Given the description of an element on the screen output the (x, y) to click on. 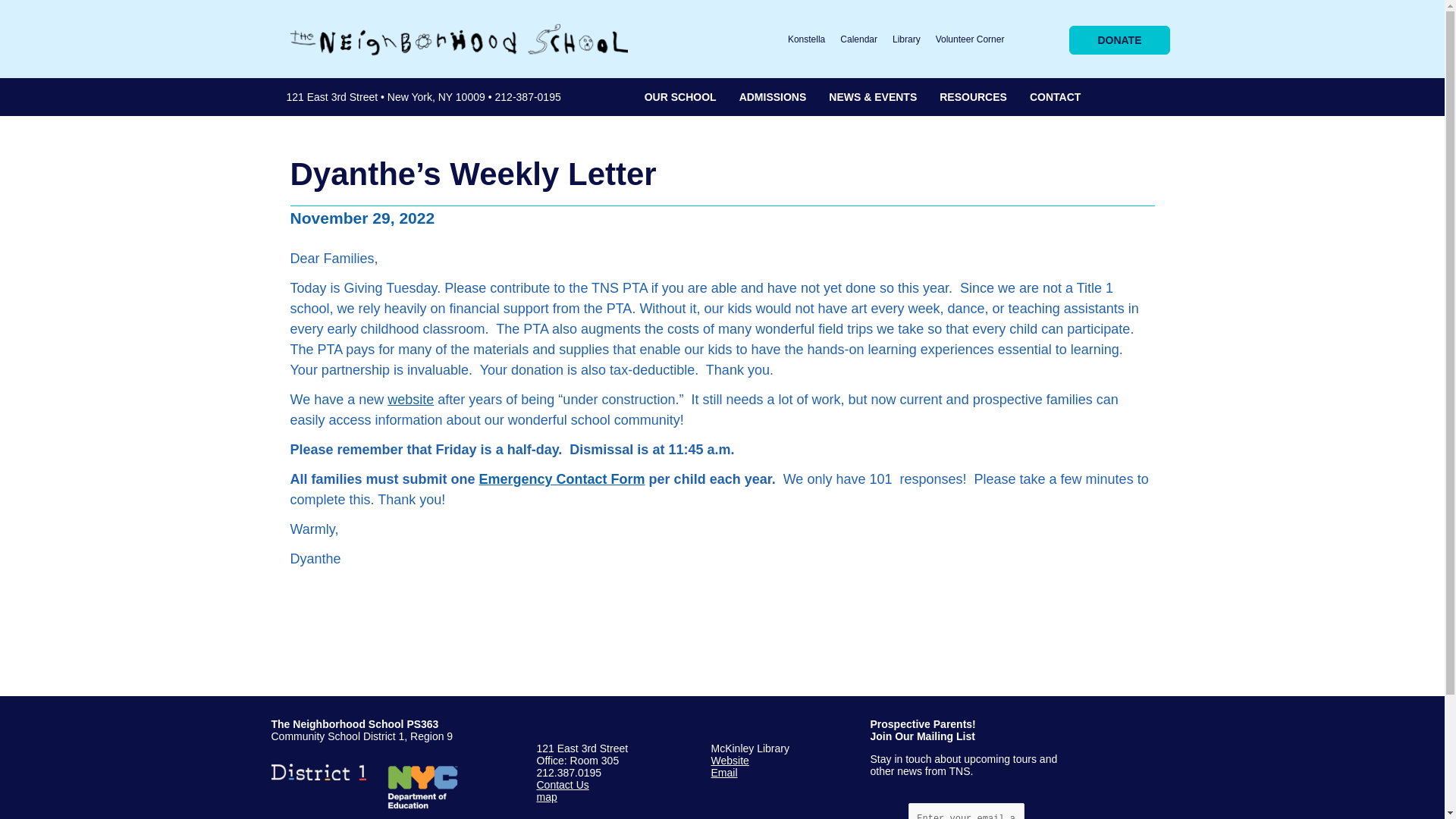
CONTACT (1048, 96)
DONATE (1118, 39)
Library (906, 39)
Calendar (858, 39)
OUR SCHOOL (680, 96)
November 29, 2022 (361, 217)
Konstella (806, 39)
RESOURCES (972, 96)
ADMISSIONS (773, 96)
Volunteer Corner (969, 39)
